Given the description of an element on the screen output the (x, y) to click on. 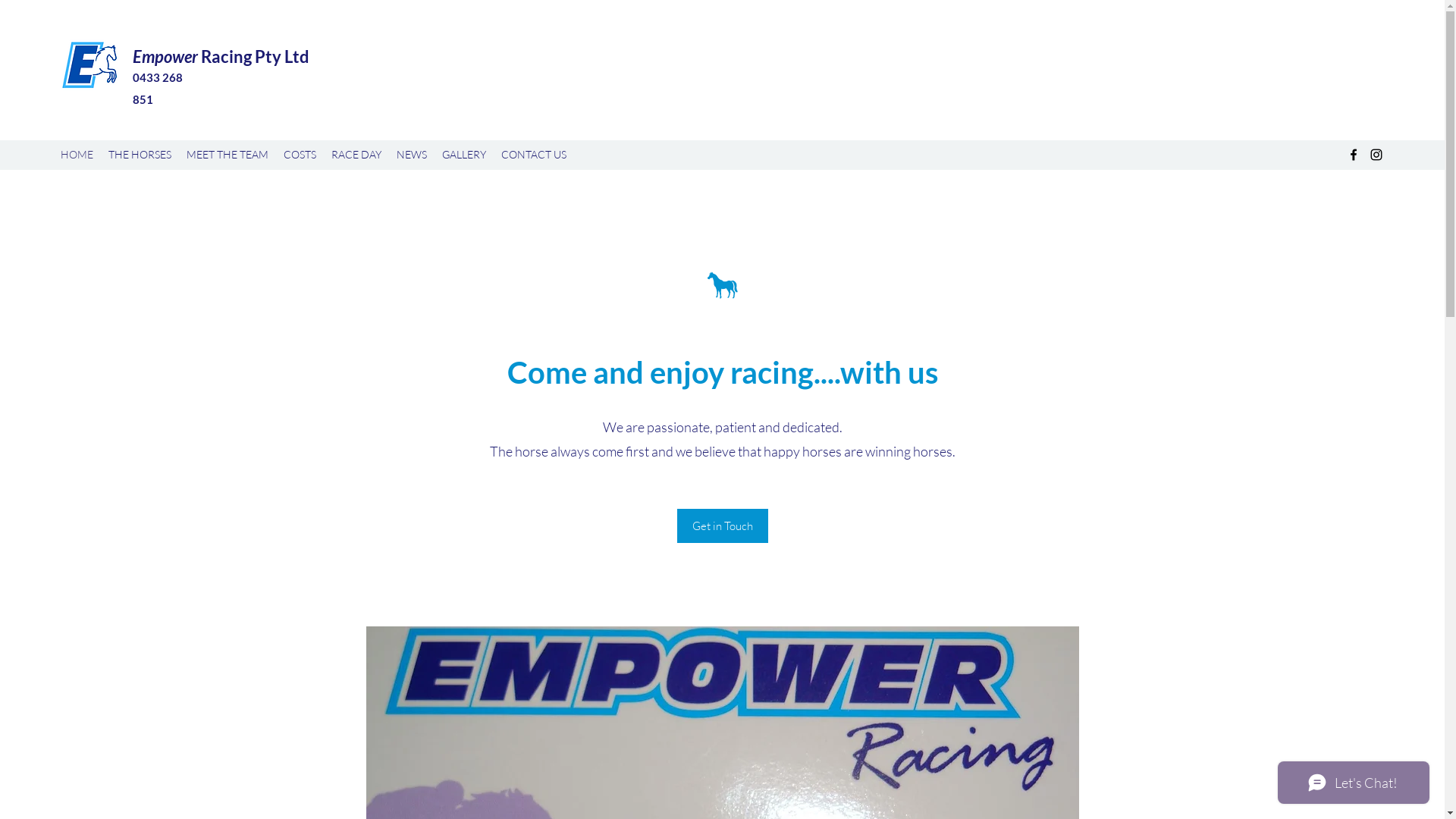
GALLERY Element type: text (463, 154)
MEET THE TEAM Element type: text (227, 154)
NEWS Element type: text (411, 154)
RACE DAY Element type: text (356, 154)
COSTS Element type: text (299, 154)
Get in Touch Element type: text (721, 525)
CONTACT US Element type: text (533, 154)
THE HORSES Element type: text (139, 154)
HOME Element type: text (76, 154)
